Given the description of an element on the screen output the (x, y) to click on. 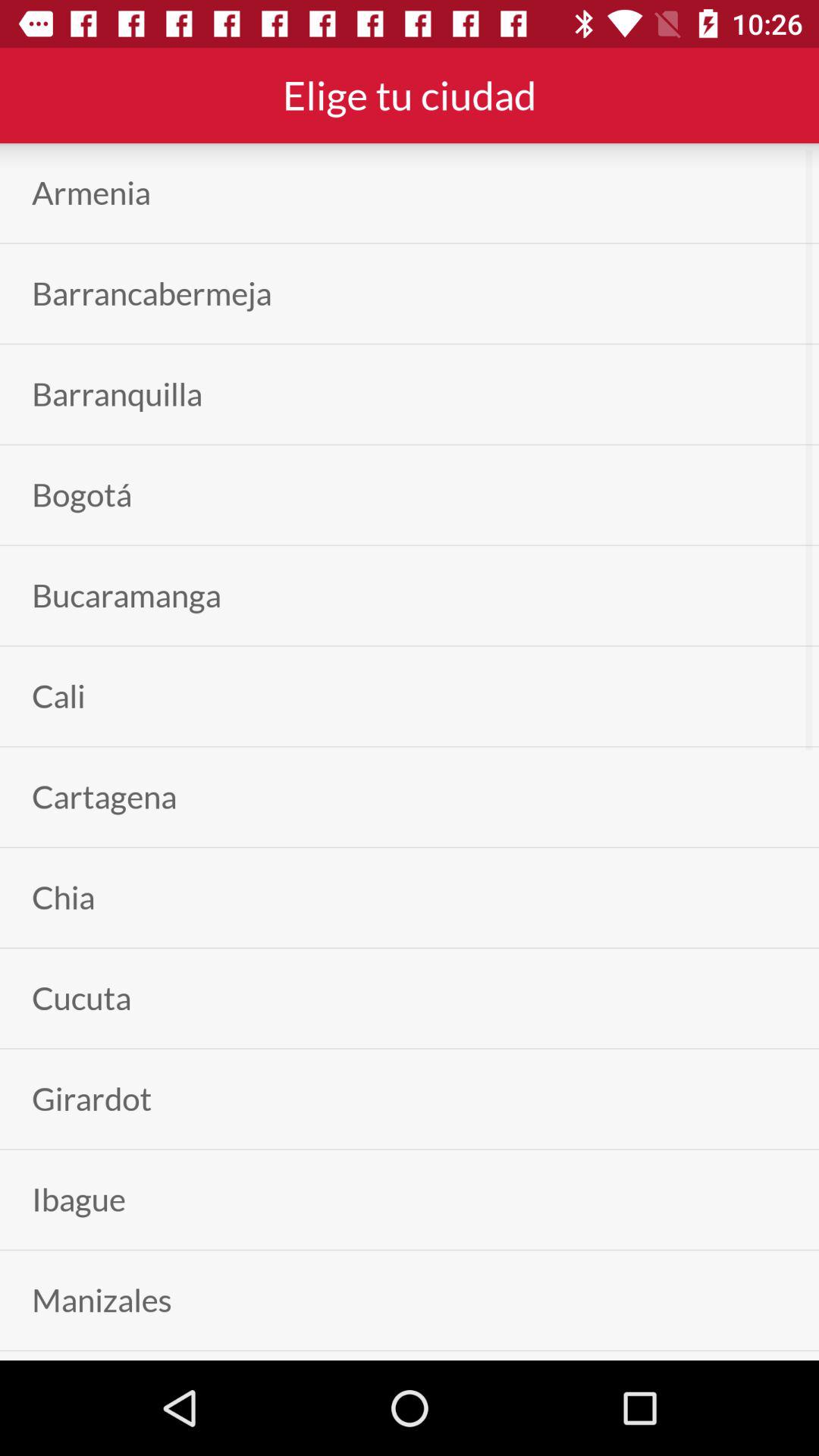
tap item below armenia (151, 293)
